Given the description of an element on the screen output the (x, y) to click on. 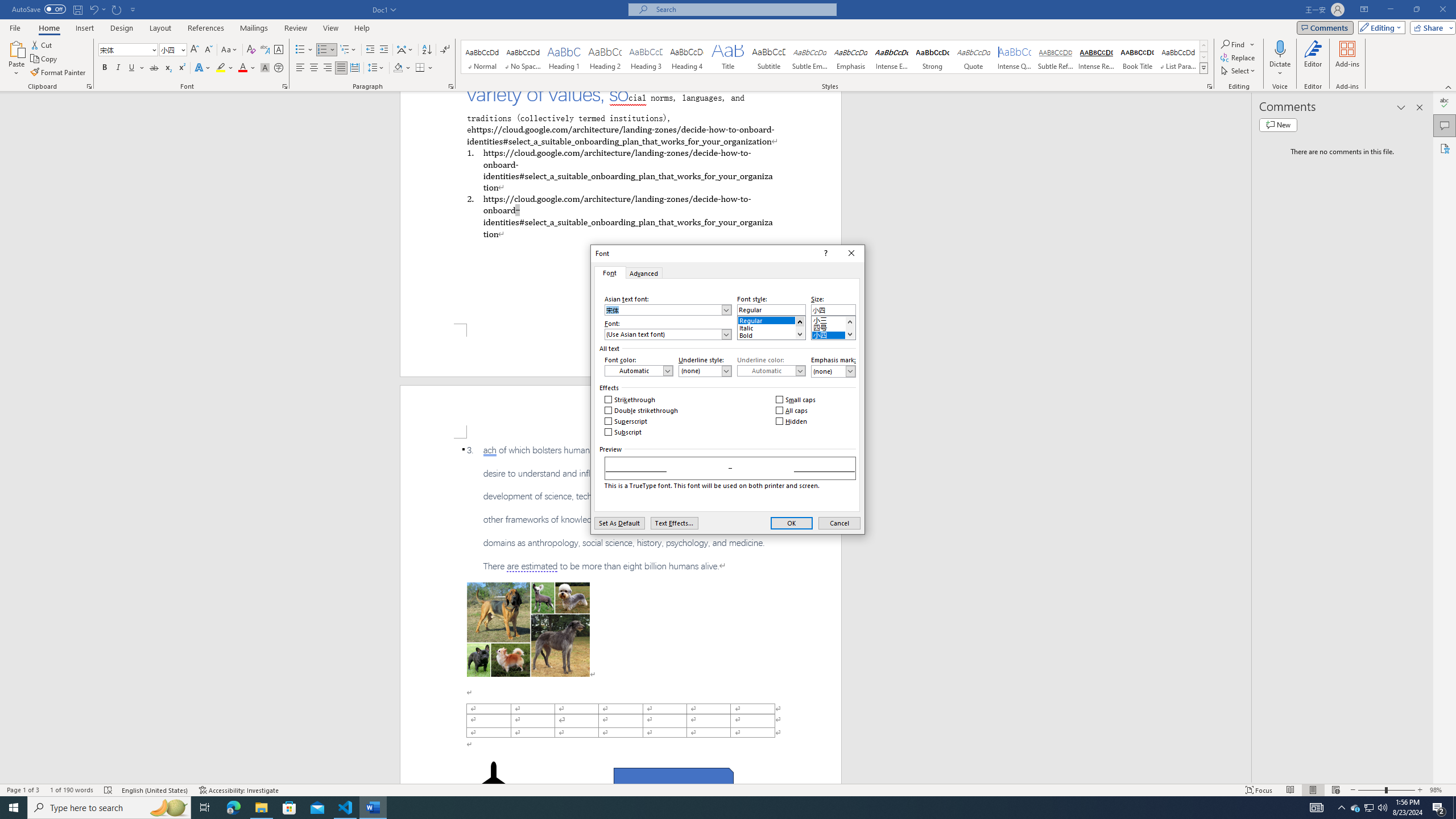
Superscript (626, 420)
Regular (771, 318)
Line and Paragraph Spacing (376, 67)
Action Center, 2 new notifications (1439, 807)
Align Right (327, 67)
1. (620, 169)
Change Case (229, 49)
Decrease Indent (370, 49)
Asian text font: (668, 309)
AutomationID: QuickStylesGallery (1368, 807)
